Given the description of an element on the screen output the (x, y) to click on. 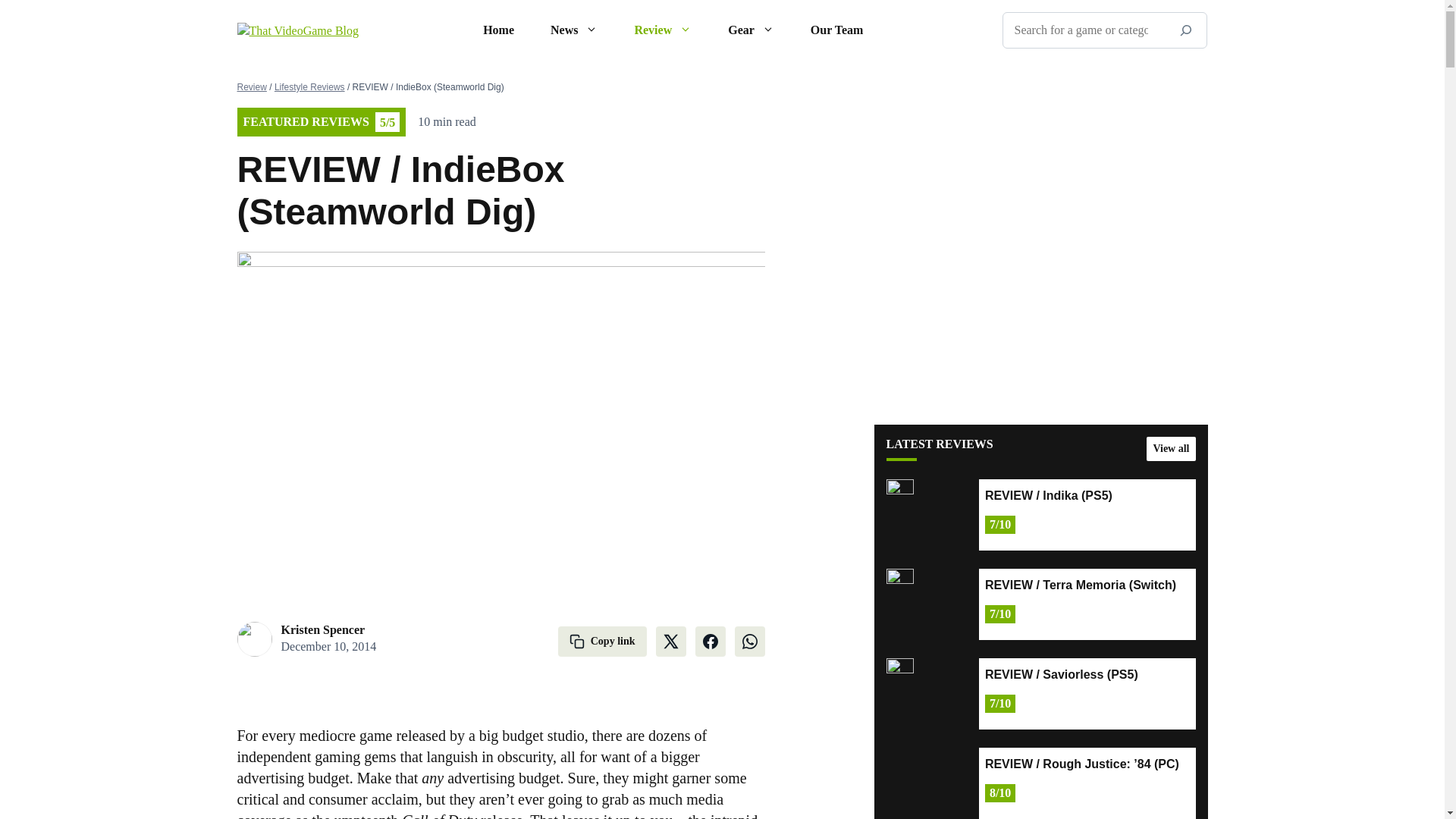
News (573, 29)
Review (662, 29)
Gear (751, 29)
Home (498, 29)
